Given the description of an element on the screen output the (x, y) to click on. 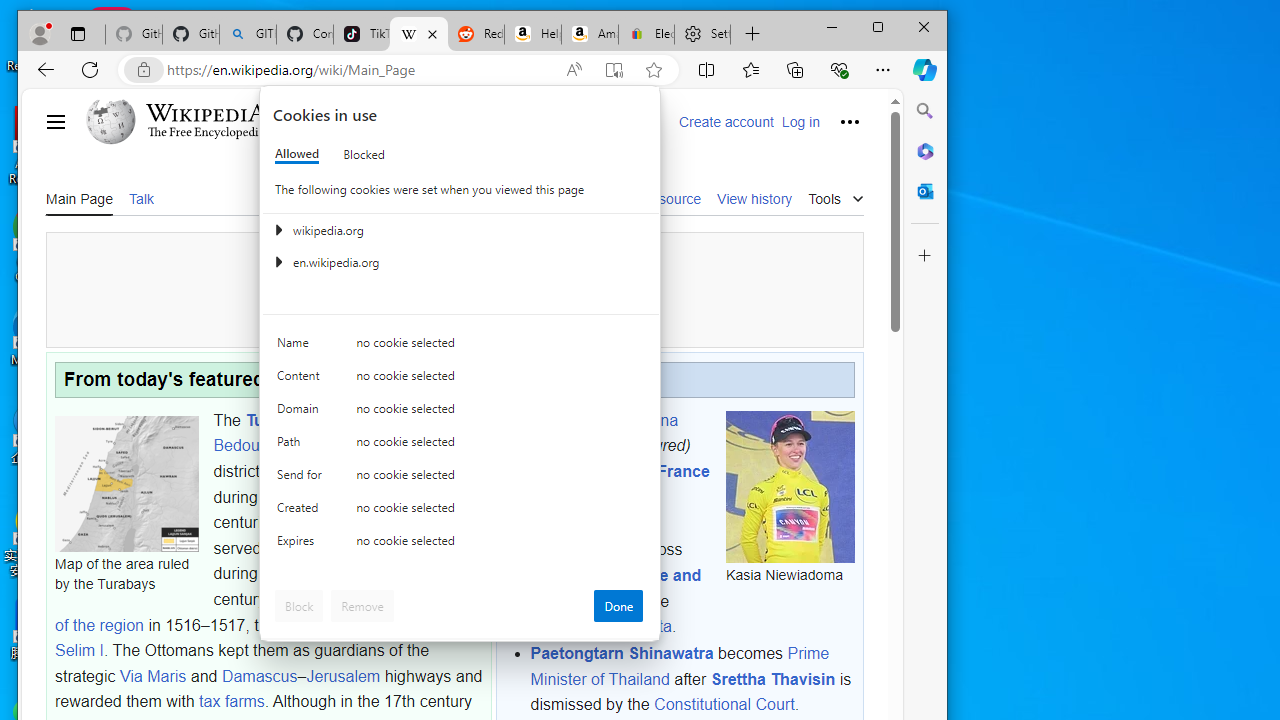
Expires (302, 544)
Content (302, 380)
Block (299, 605)
Created (302, 511)
Allowed (296, 153)
Send for (302, 479)
no cookie selected (500, 544)
Path (302, 446)
Blocked (363, 153)
Class: c0153 c0157 c0154 (460, 347)
Name (302, 346)
Done (617, 605)
Domain (302, 413)
Class: c0153 c0157 (460, 545)
Remove (362, 605)
